Given the description of an element on the screen output the (x, y) to click on. 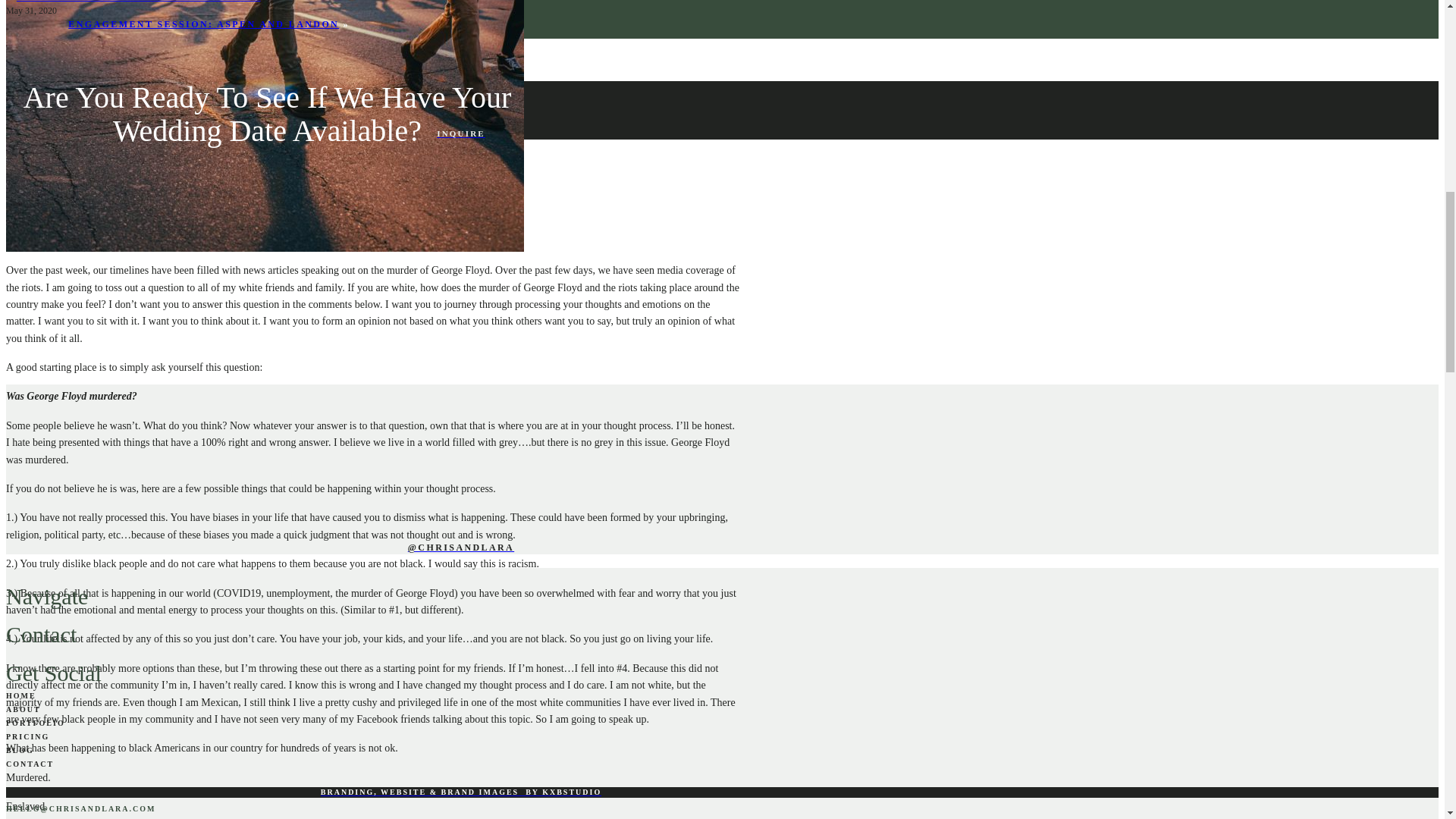
PORTFOLIO (35, 723)
HOME (20, 695)
BLOG (19, 750)
ENGAGEMENT SESSION: ASPEN AND LANDON (203, 23)
CONTACT (29, 764)
PRICING (27, 736)
ABOUT (22, 709)
